Given the description of an element on the screen output the (x, y) to click on. 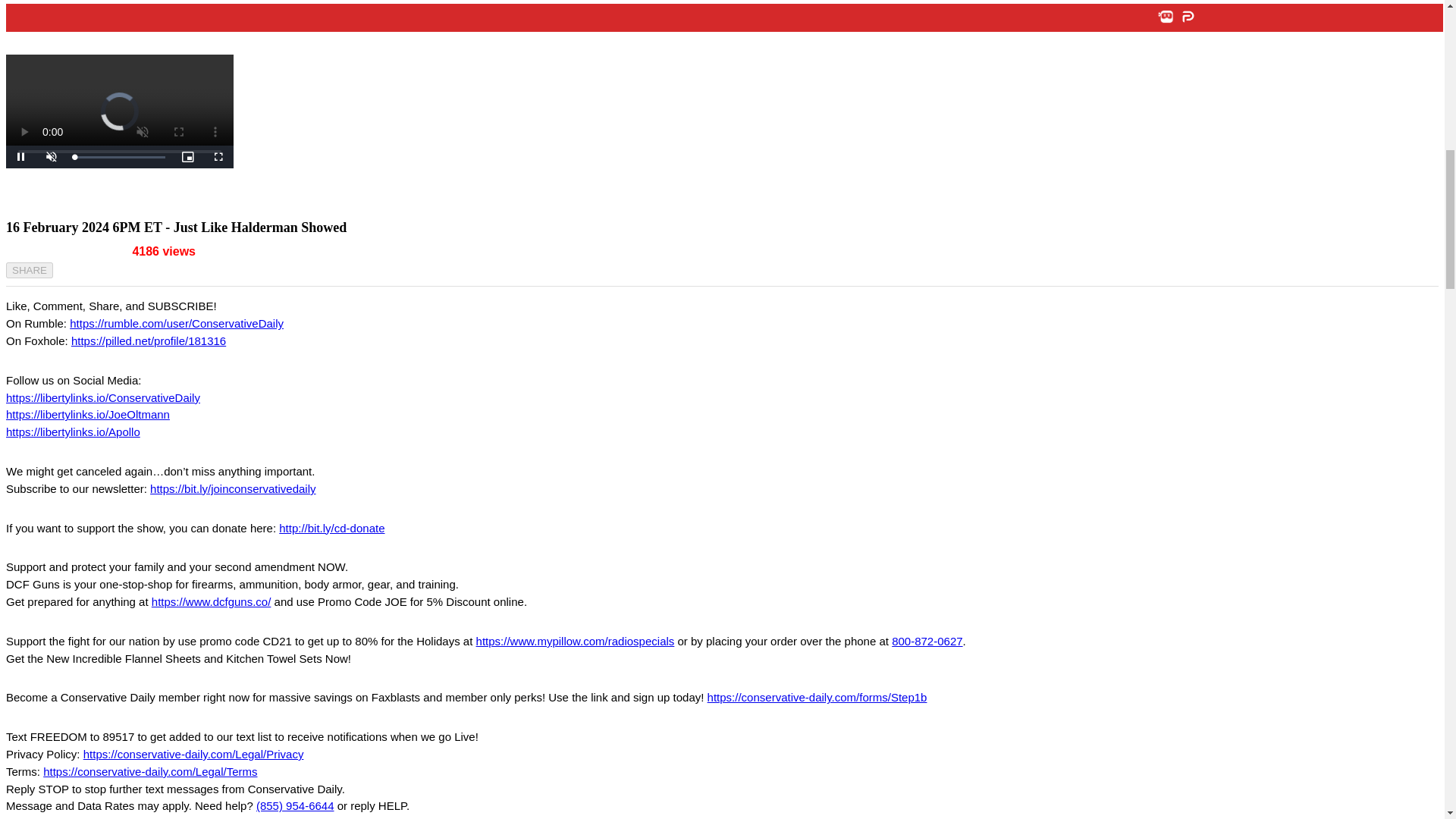
SHARE (28, 270)
